Given the description of an element on the screen output the (x, y) to click on. 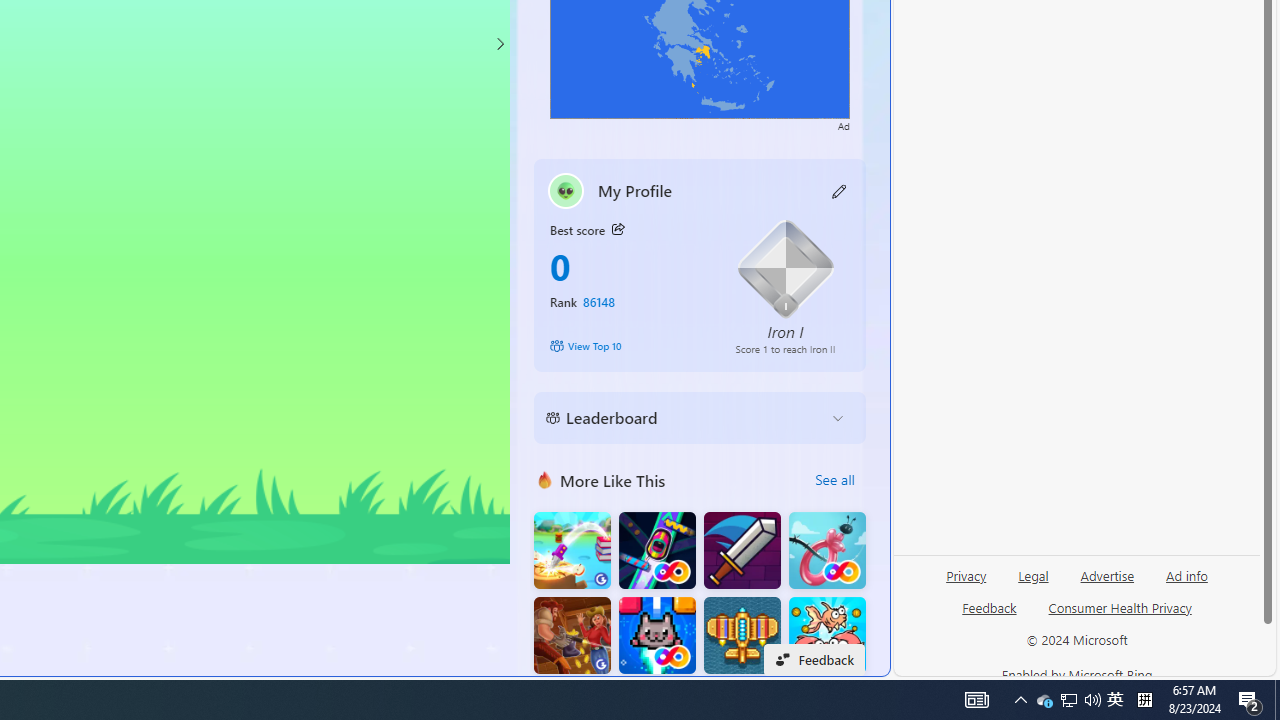
Knife Flip (571, 550)
Consumer Health Privacy (1119, 607)
See all (834, 479)
Atlantic Sky Hunter (742, 635)
